Given the description of an element on the screen output the (x, y) to click on. 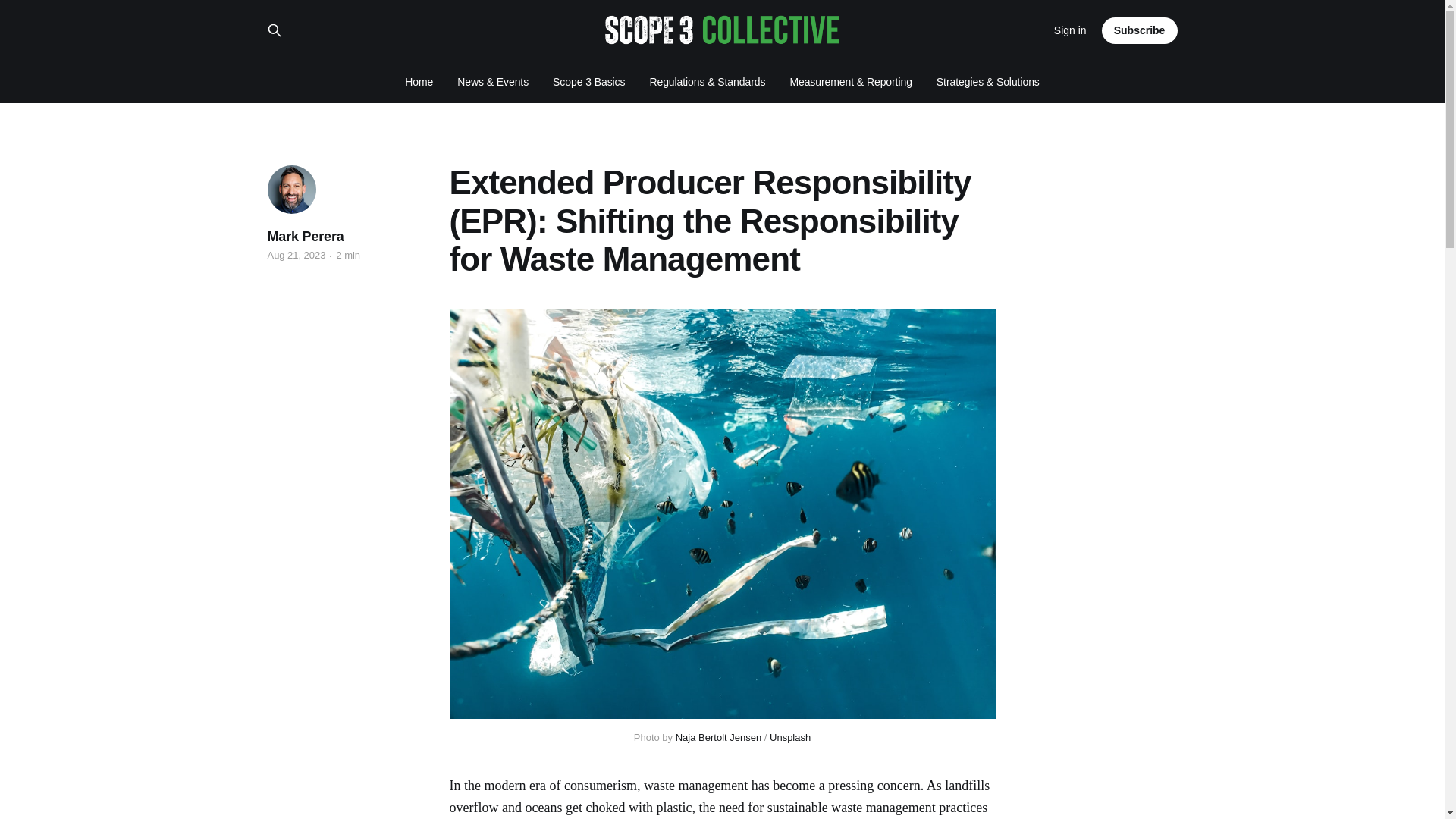
Subscribe (1139, 29)
Naja Bertolt Jensen (718, 737)
Unsplash (790, 737)
Sign in (1070, 30)
Mark Perera (304, 236)
Scope 3 Basics (588, 81)
Home (418, 81)
